Given the description of an element on the screen output the (x, y) to click on. 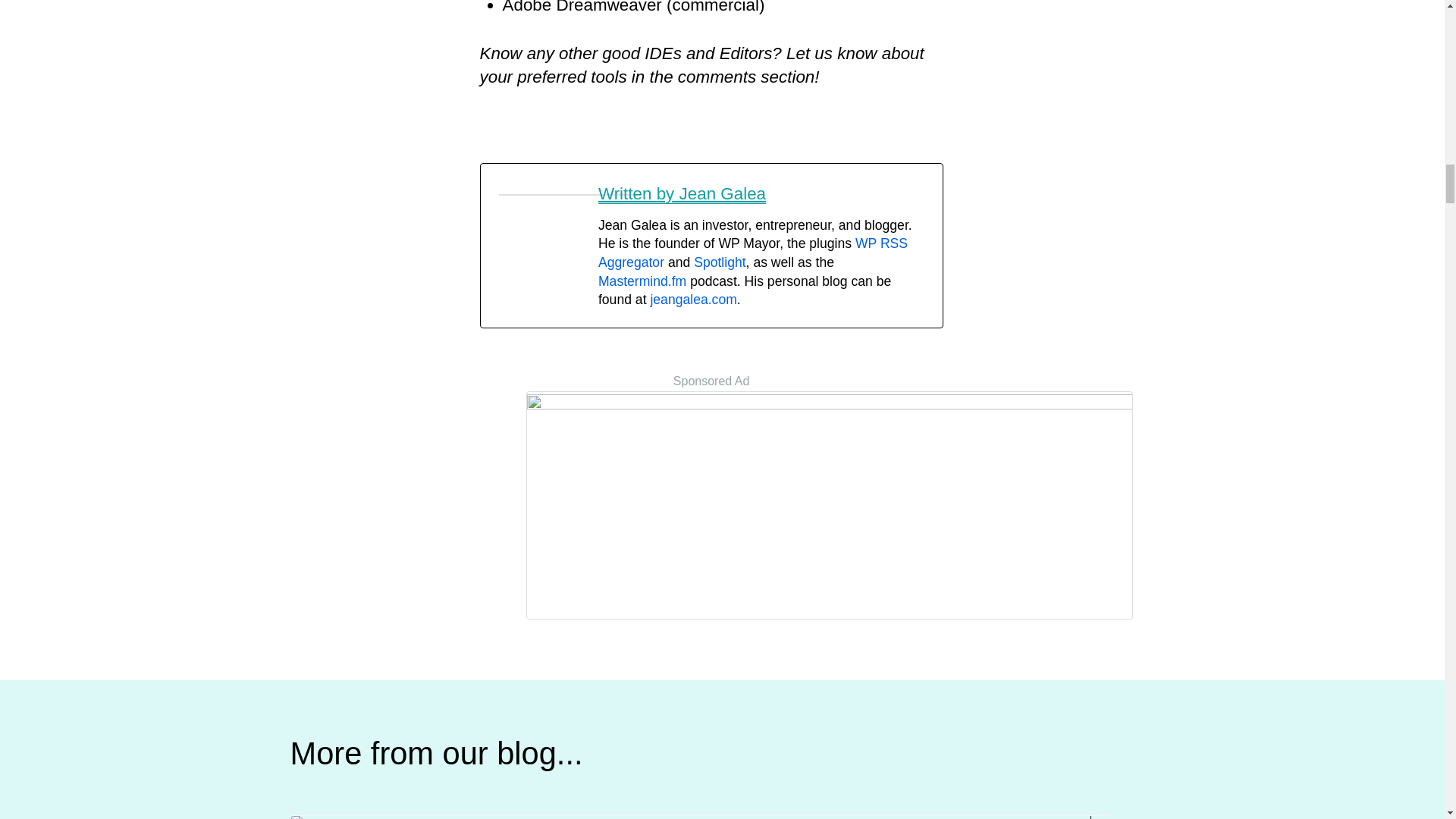
WP RSS Aggregator (752, 252)
Written by Jean Galea (681, 193)
Mastermind.fm (641, 281)
jeangalea.com (692, 299)
Spotlight (719, 262)
